Given the description of an element on the screen output the (x, y) to click on. 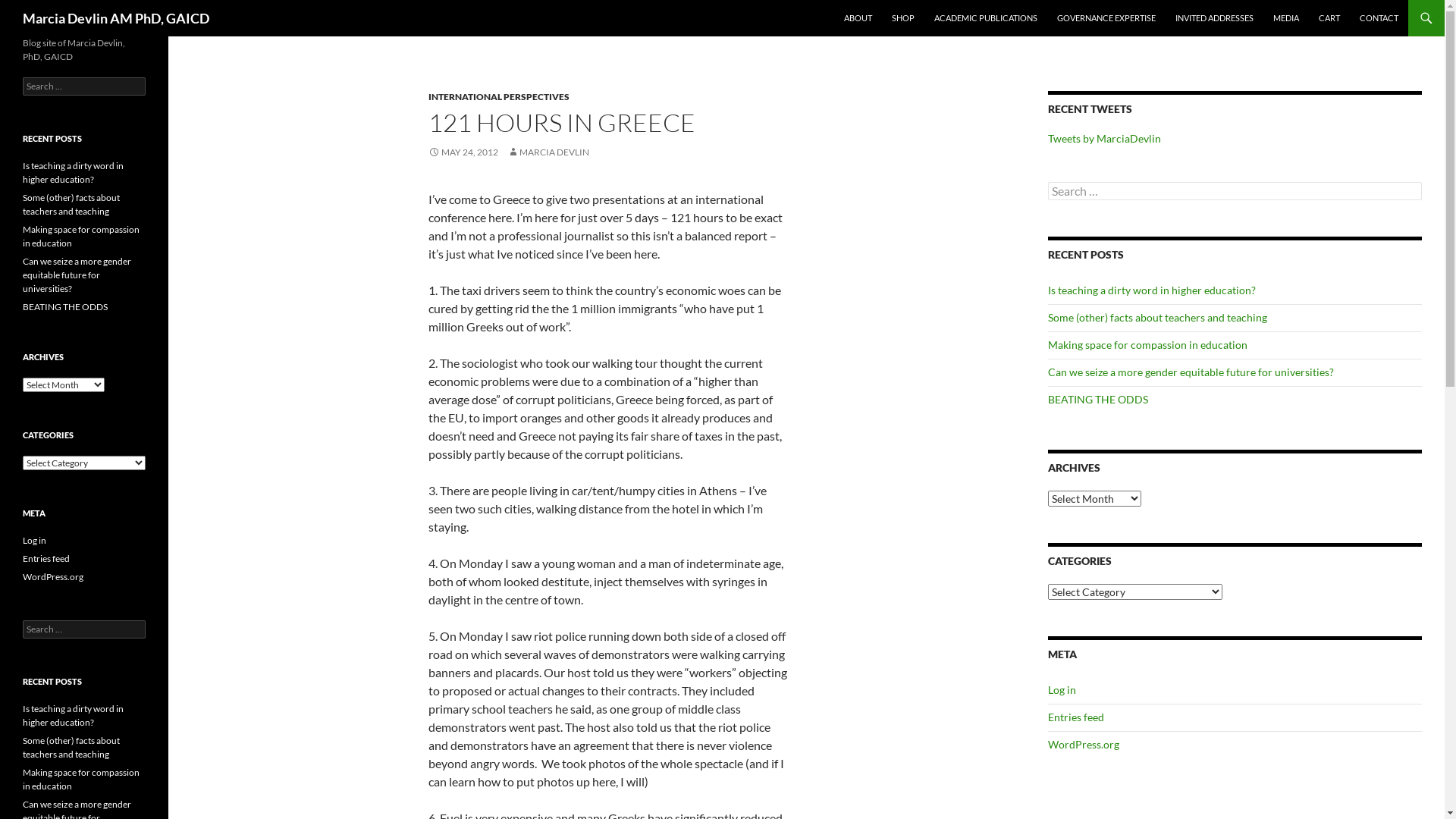
WordPress.org Element type: text (1083, 743)
BEATING THE ODDS Element type: text (1098, 398)
SHOP Element type: text (902, 18)
Some (other) facts about teachers and teaching Element type: text (70, 203)
Tweets by MarciaDevlin Element type: text (1104, 137)
Log in Element type: text (1062, 689)
GOVERNANCE EXPERTISE Element type: text (1106, 18)
CART Element type: text (1329, 18)
Entries feed Element type: text (45, 558)
Making space for compassion in education Element type: text (1147, 344)
MEDIA Element type: text (1286, 18)
Is teaching a dirty word in higher education? Element type: text (72, 172)
Is teaching a dirty word in higher education? Element type: text (1151, 289)
Some (other) facts about teachers and teaching Element type: text (1157, 316)
INVITED ADDRESSES Element type: text (1214, 18)
Marcia Devlin AM PhD, GAICD Element type: text (115, 18)
Search Element type: text (29, 9)
BEATING THE ODDS Element type: text (64, 306)
Making space for compassion in education Element type: text (80, 778)
ABOUT Element type: text (857, 18)
Is teaching a dirty word in higher education? Element type: text (72, 715)
Some (other) facts about teachers and teaching Element type: text (70, 746)
Entries feed Element type: text (1076, 716)
CONTACT Element type: text (1378, 18)
INTERNATIONAL PERSPECTIVES Element type: text (498, 96)
MAY 24, 2012 Element type: text (463, 151)
Making space for compassion in education Element type: text (80, 235)
WordPress.org Element type: text (52, 576)
Log in Element type: text (34, 540)
MARCIA DEVLIN Element type: text (548, 151)
ACADEMIC PUBLICATIONS Element type: text (985, 18)
